Given the description of an element on the screen output the (x, y) to click on. 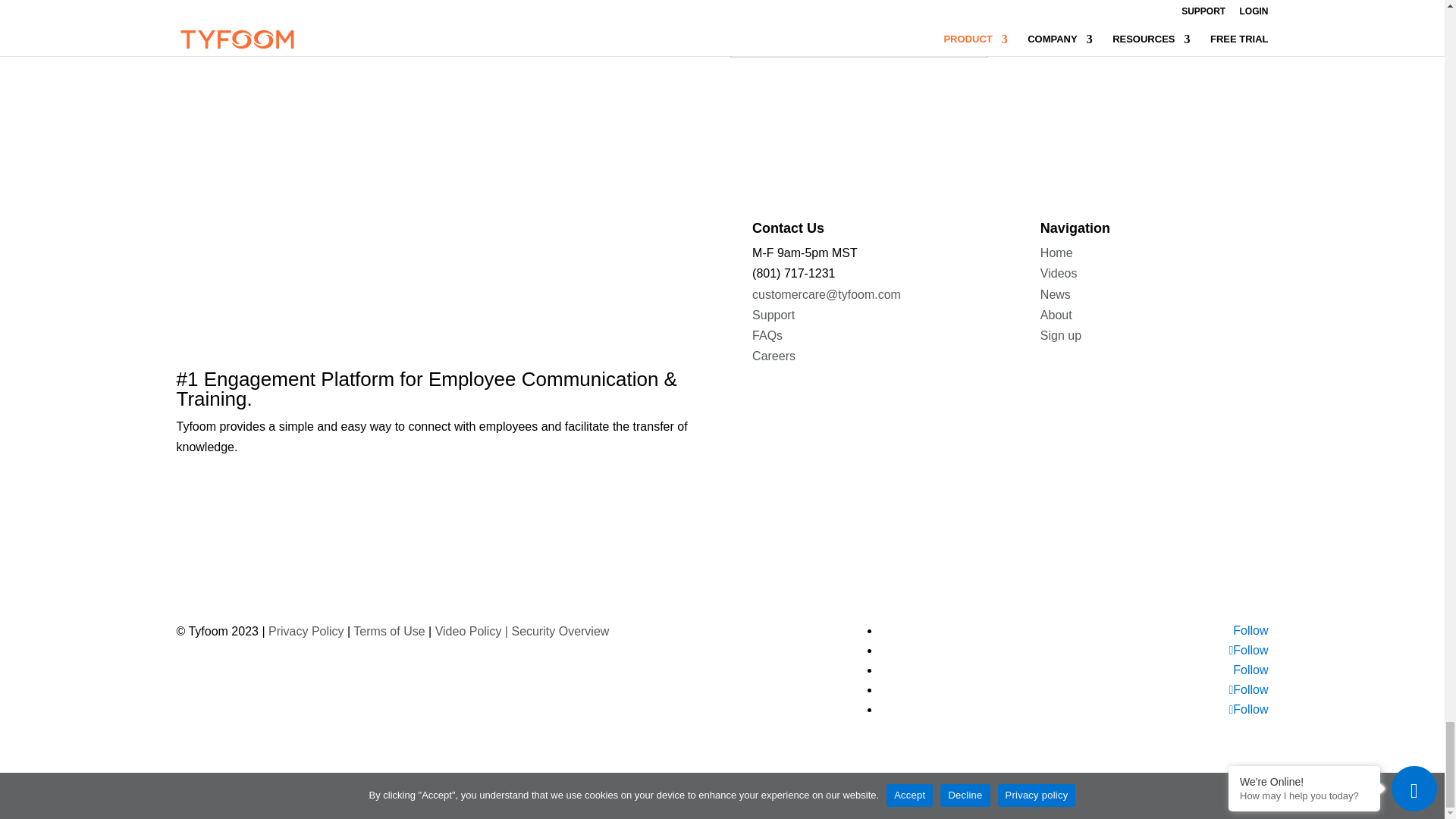
Follow on LinkedIn (1250, 630)
